Given the description of an element on the screen output the (x, y) to click on. 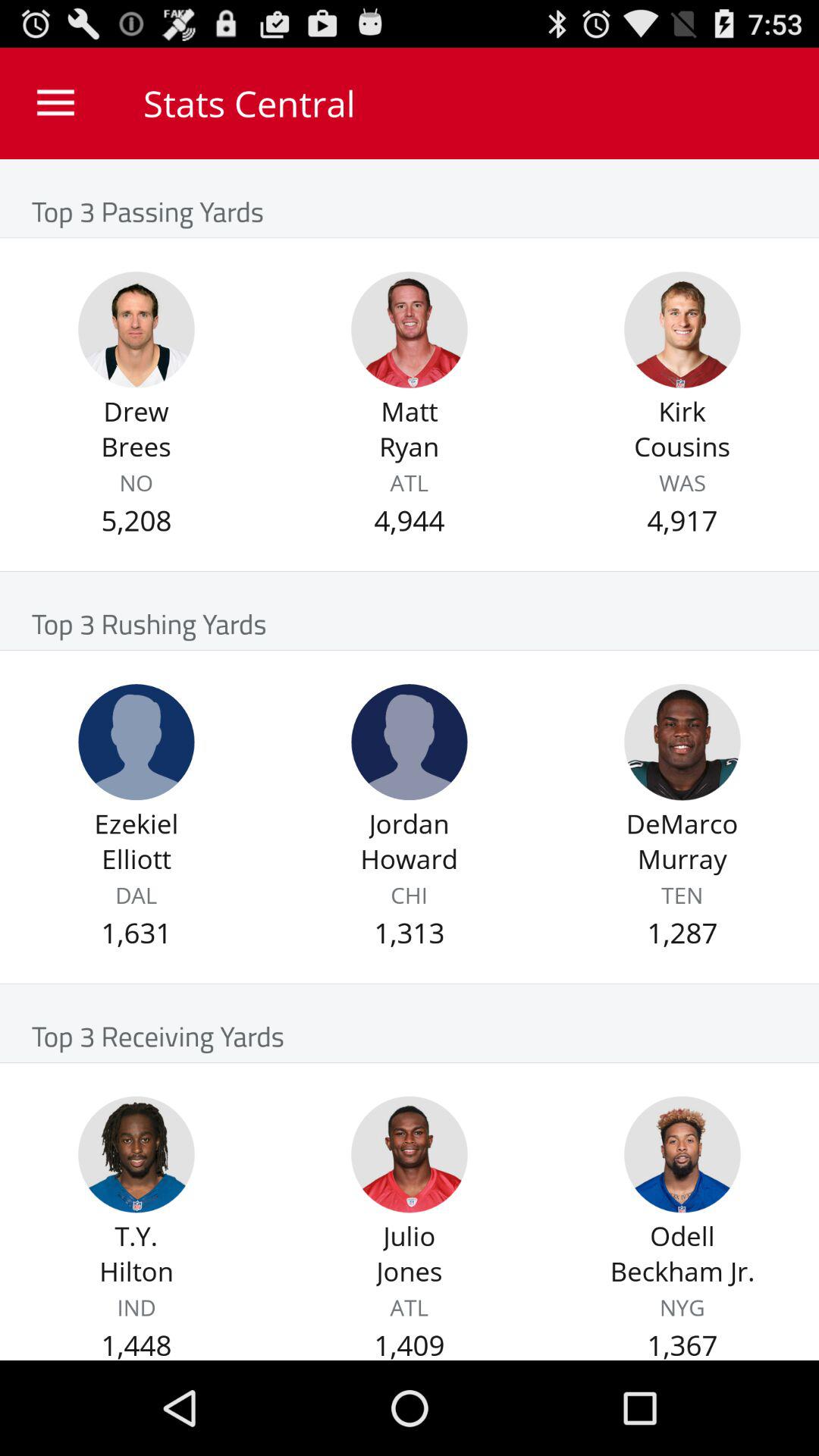
view player profile (136, 1154)
